Given the description of an element on the screen output the (x, y) to click on. 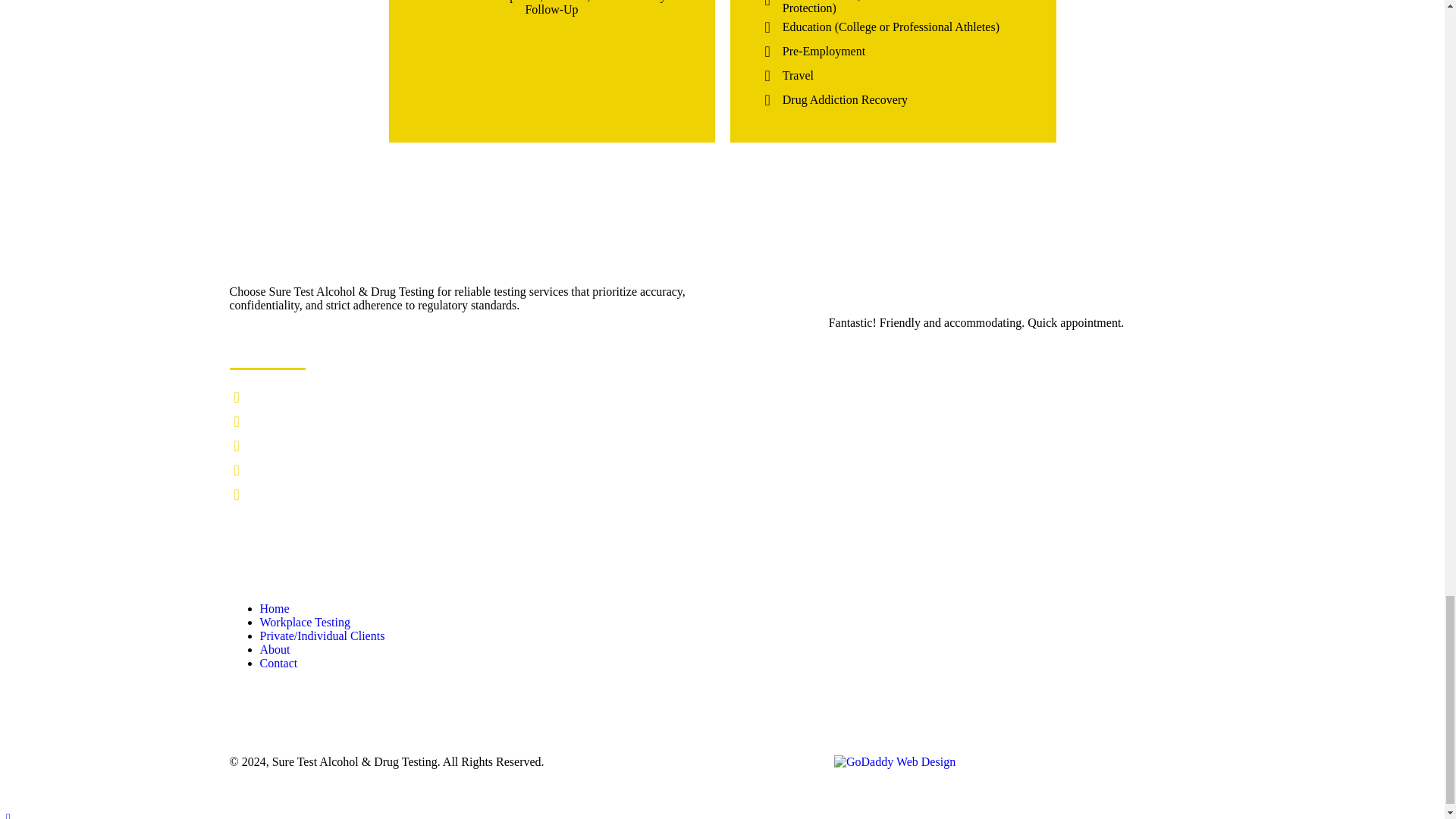
About (274, 649)
Home (273, 608)
Contact (278, 663)
Workplace Testing (304, 622)
